Given the description of an element on the screen output the (x, y) to click on. 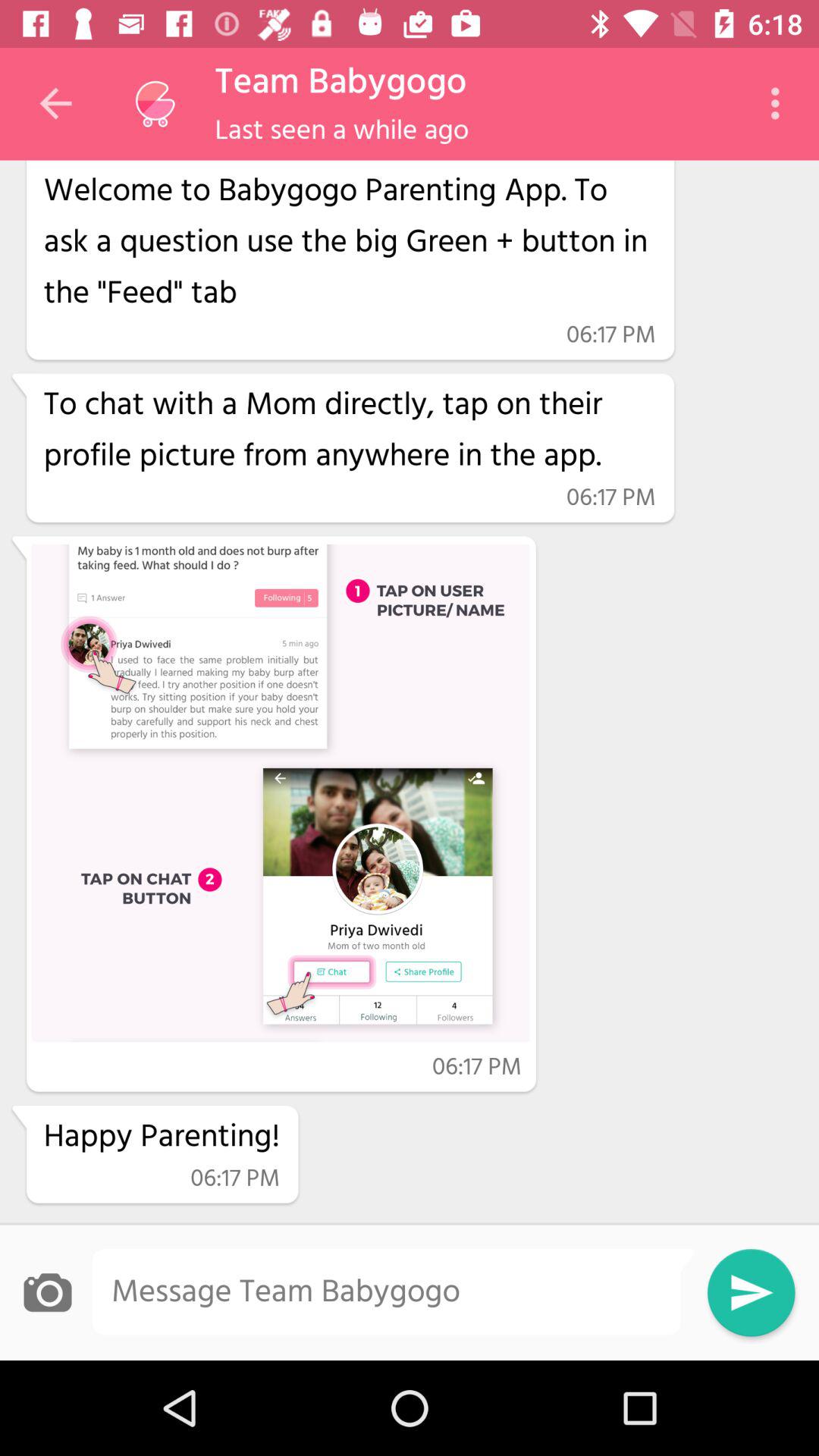
select the item below the team babygogo (341, 131)
